Given the description of an element on the screen output the (x, y) to click on. 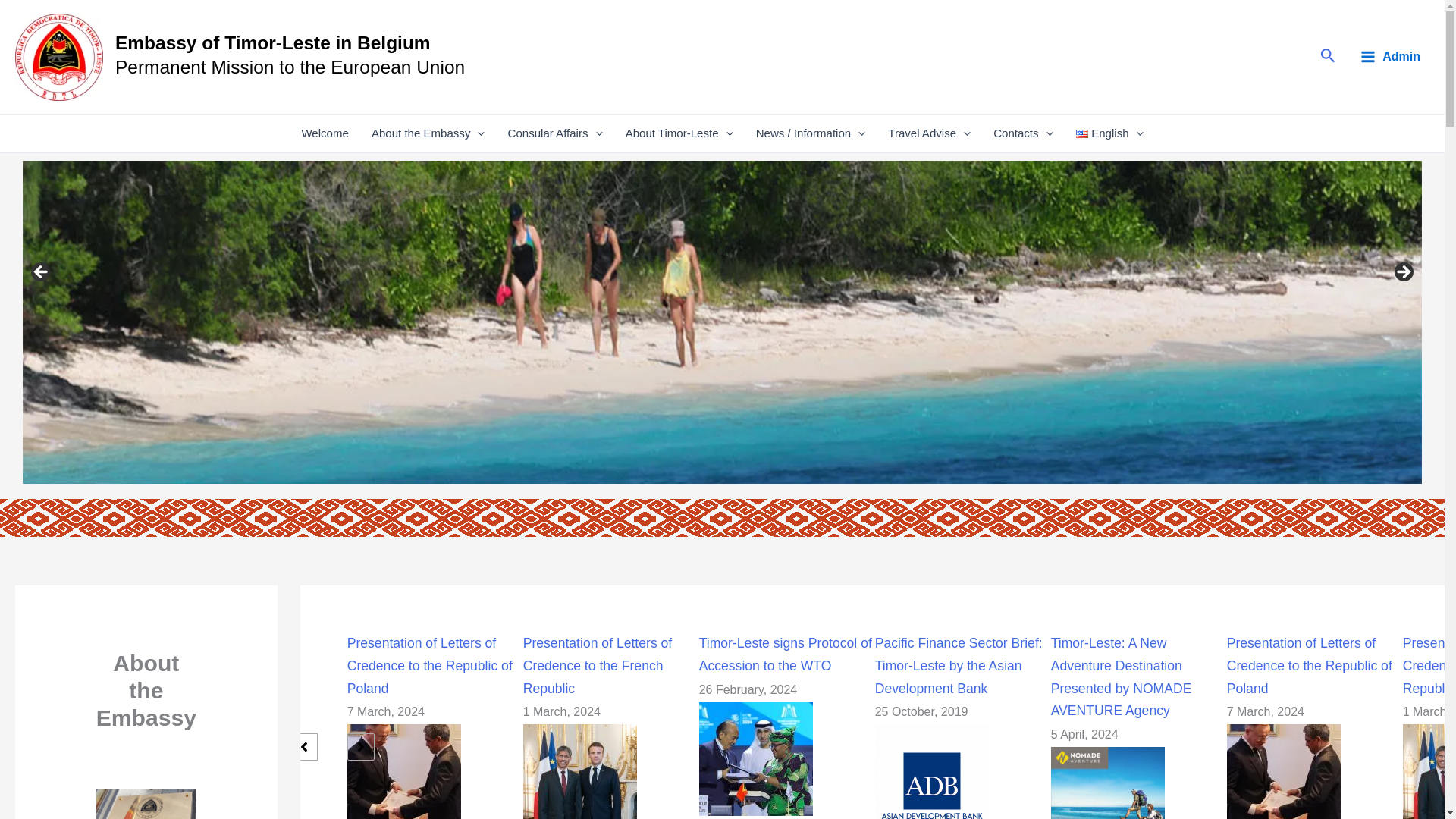
About Timor-Leste (679, 133)
Consular Affairs (554, 133)
English (1109, 133)
About the Embassy (427, 133)
Contacts (1022, 133)
Embassy of Timor-Leste in Belgium (272, 42)
Travel Advise (928, 133)
Welcome (324, 133)
Welcome (324, 133)
